Given the description of an element on the screen output the (x, y) to click on. 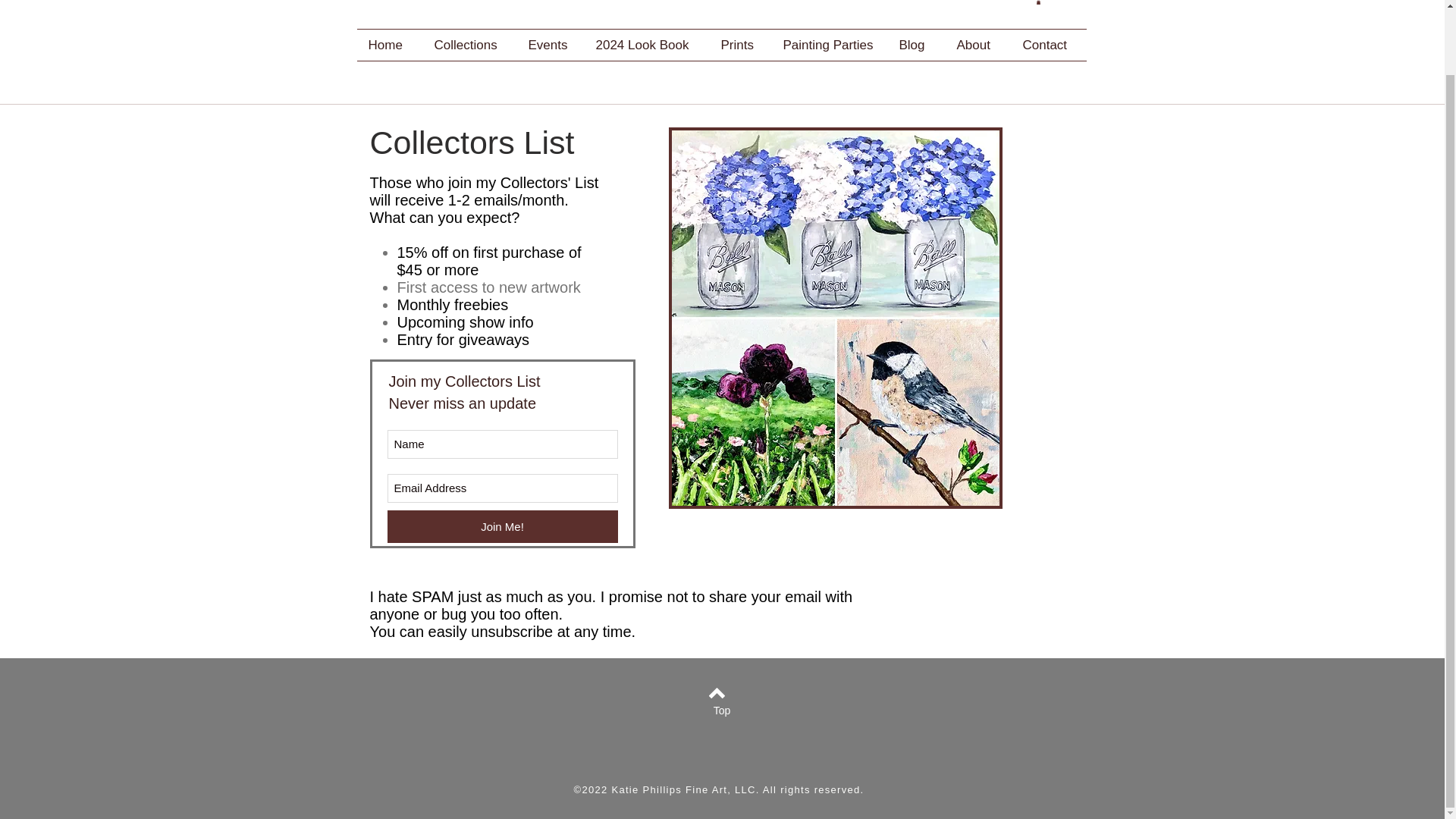
Join Me! (502, 526)
2024 Look Book (646, 44)
Home (389, 44)
Top (721, 711)
Events (550, 44)
Prints (740, 44)
Blog (915, 44)
About (977, 44)
Painting Parties (829, 44)
Collections (469, 44)
